Given the description of an element on the screen output the (x, y) to click on. 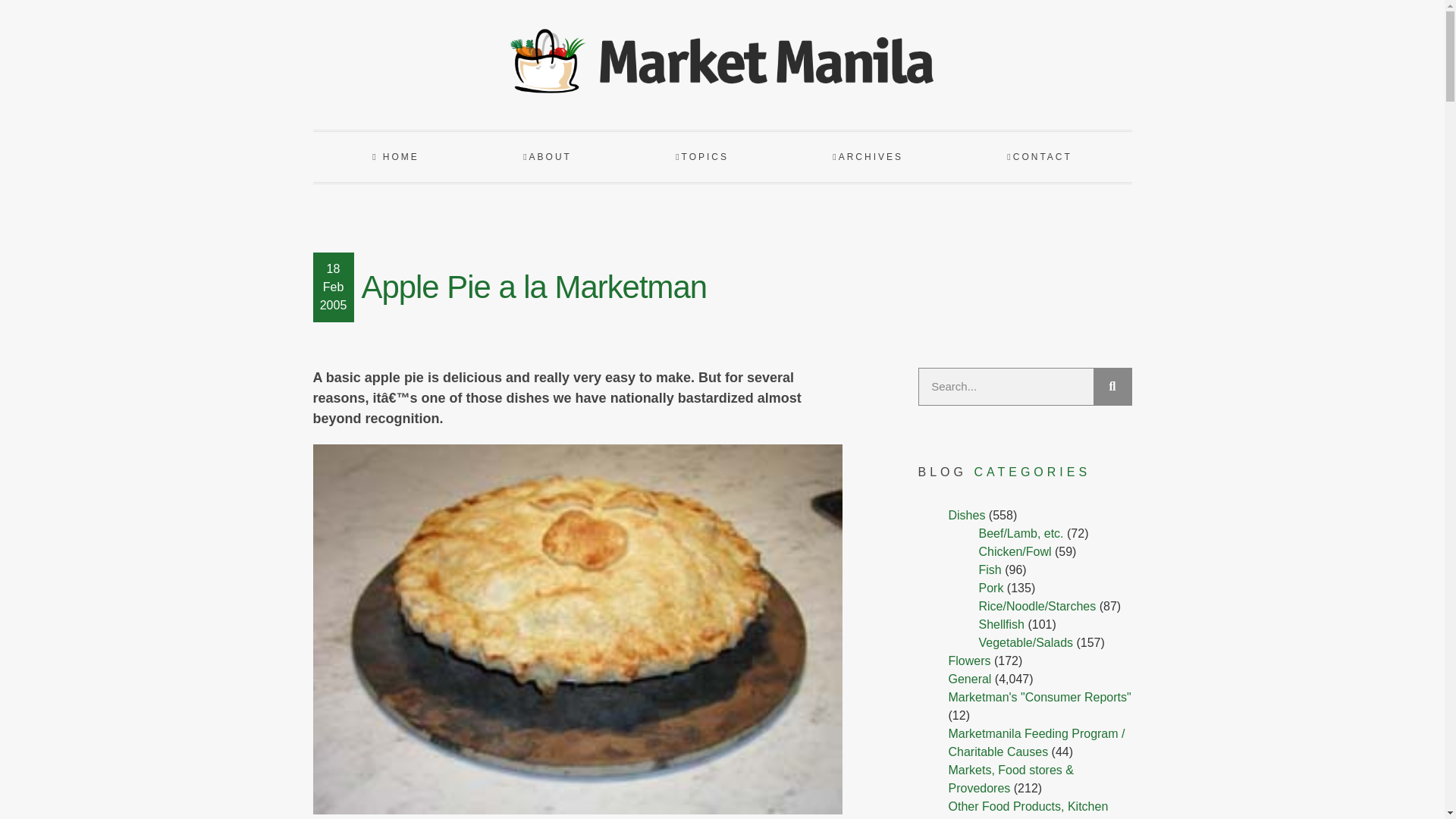
TOPICS (702, 156)
Flowers (968, 660)
CONTACT (1039, 156)
Fish (989, 569)
 HOME (395, 156)
Pork (990, 587)
ARCHIVES (867, 156)
ABOUT (547, 156)
Shellfish (1000, 624)
Dishes (966, 514)
